Given the description of an element on the screen output the (x, y) to click on. 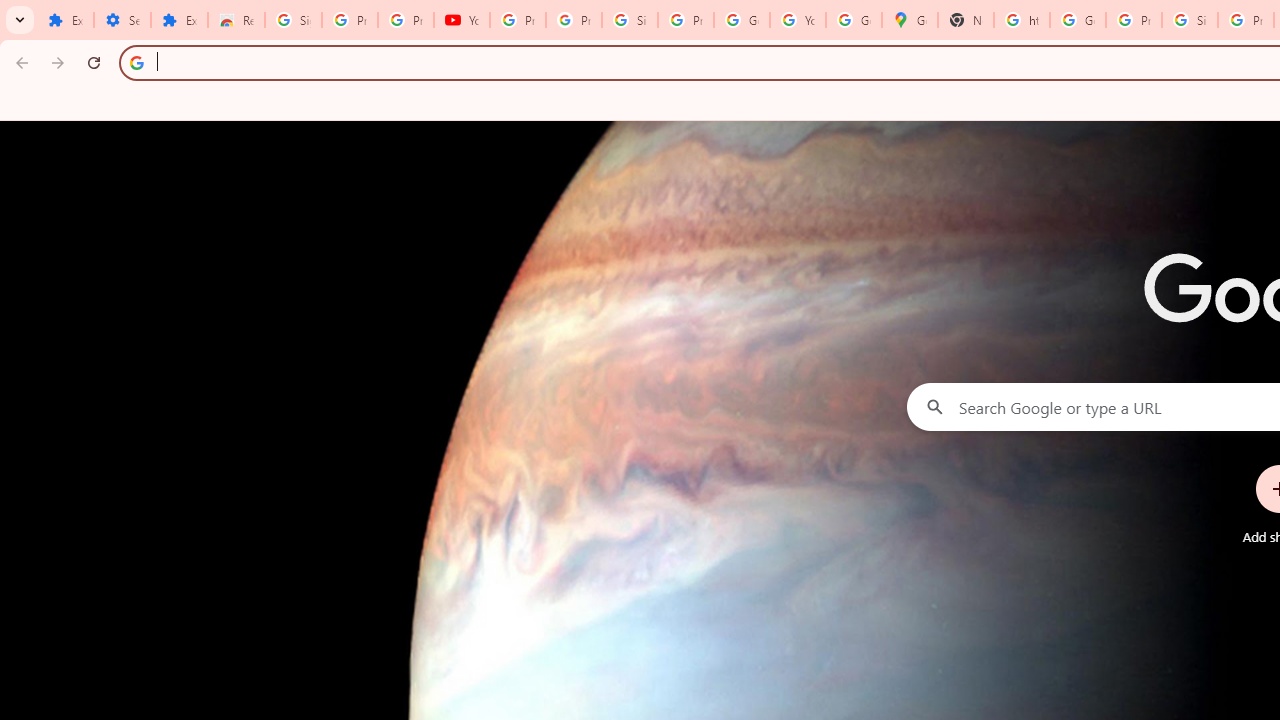
Google Maps (909, 20)
Reviews: Helix Fruit Jump Arcade Game (235, 20)
New Tab (966, 20)
https://scholar.google.com/ (1021, 20)
Sign in - Google Accounts (629, 20)
